Given the description of an element on the screen output the (x, y) to click on. 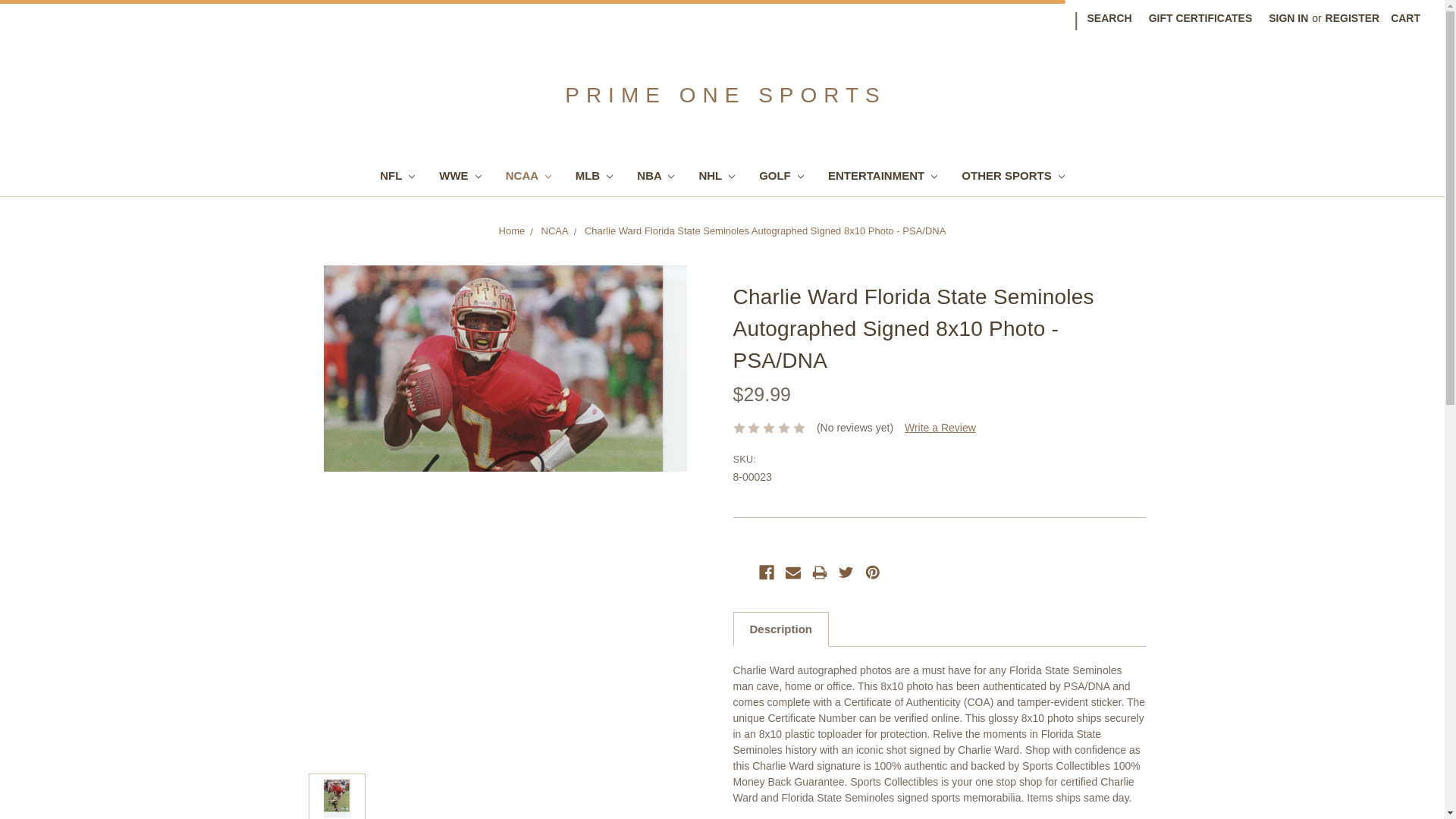
CART (1404, 18)
WWE (459, 177)
GIFT CERTIFICATES (1200, 18)
REGISTER (1353, 18)
NCAA (528, 177)
SIGN IN (1288, 18)
SEARCH (1109, 18)
NFL (397, 177)
